Given the description of an element on the screen output the (x, y) to click on. 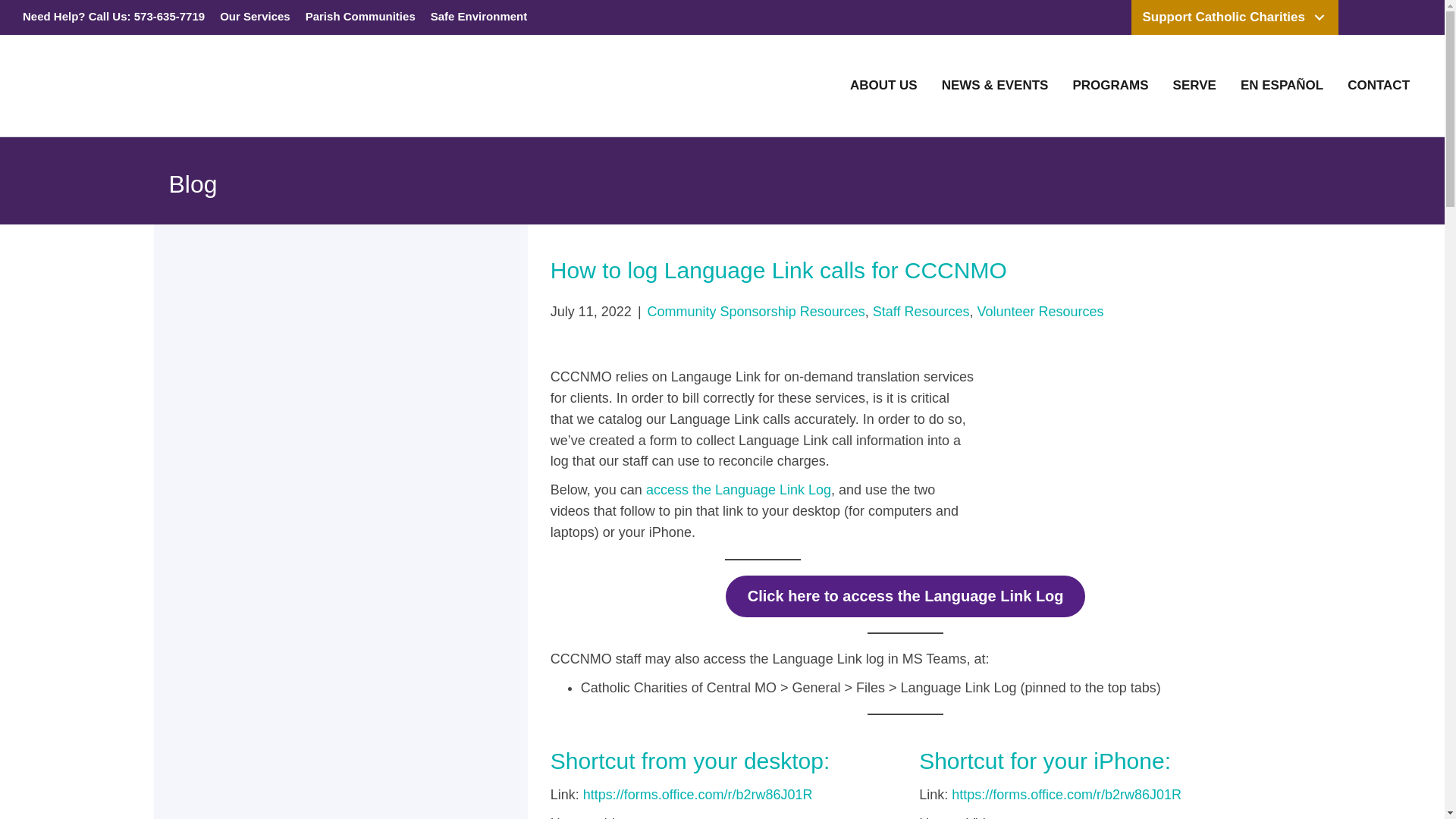
Support Catholic Charities (1234, 17)
PROGRAMS (1109, 85)
Primary Logo Full Color (117, 81)
ABOUT US (884, 85)
Need Help? Call Us: 573-635-7719 (113, 16)
Parish Communities (360, 16)
Our Services (255, 16)
Safe Environment (479, 16)
